Given the description of an element on the screen output the (x, y) to click on. 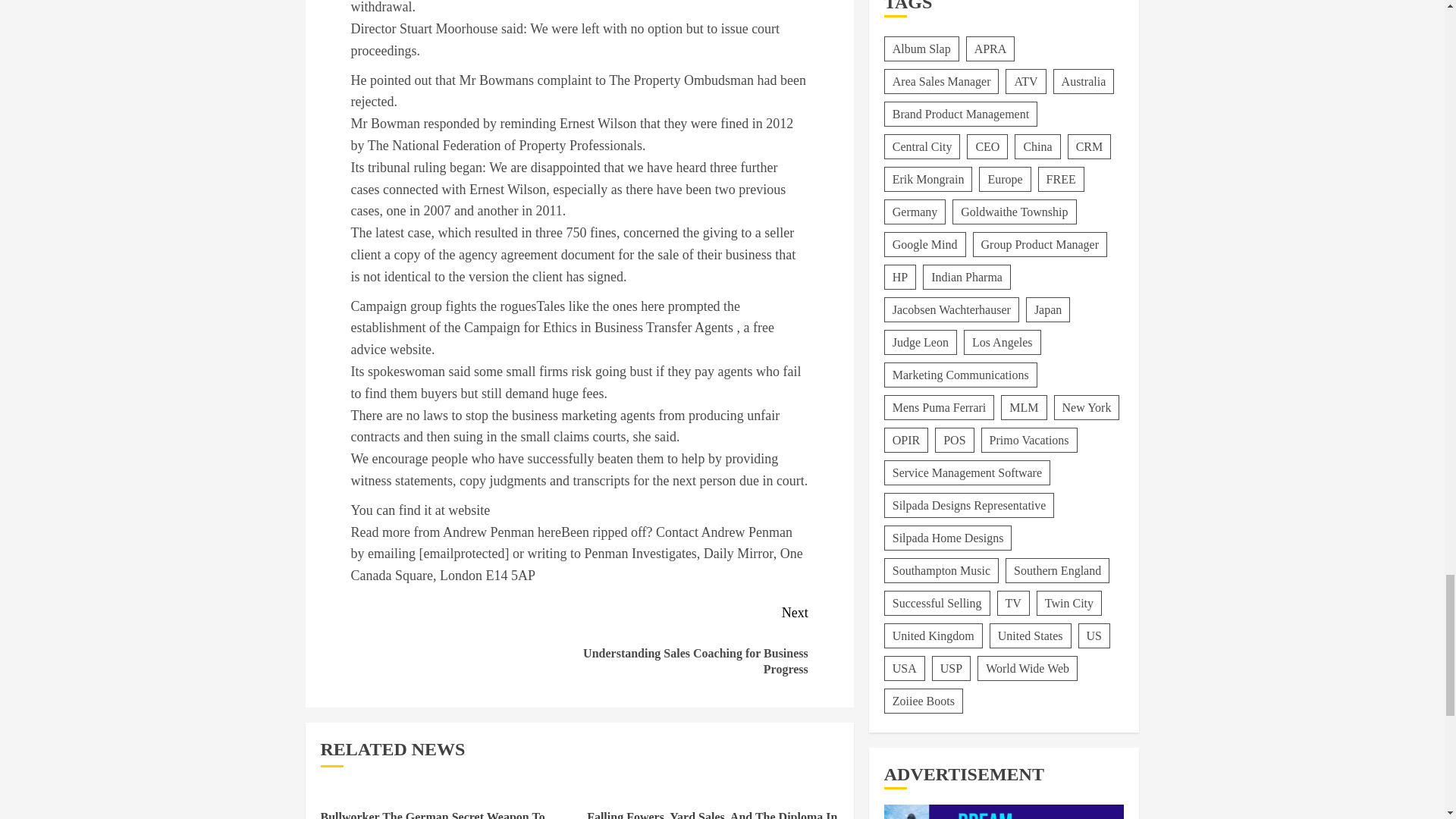
Falling Fowers, Yard Sales, And The Diploma In The Box (711, 814)
Bullworker The German Secret Weapon To Build Muscle Mass (432, 814)
